Given the description of an element on the screen output the (x, y) to click on. 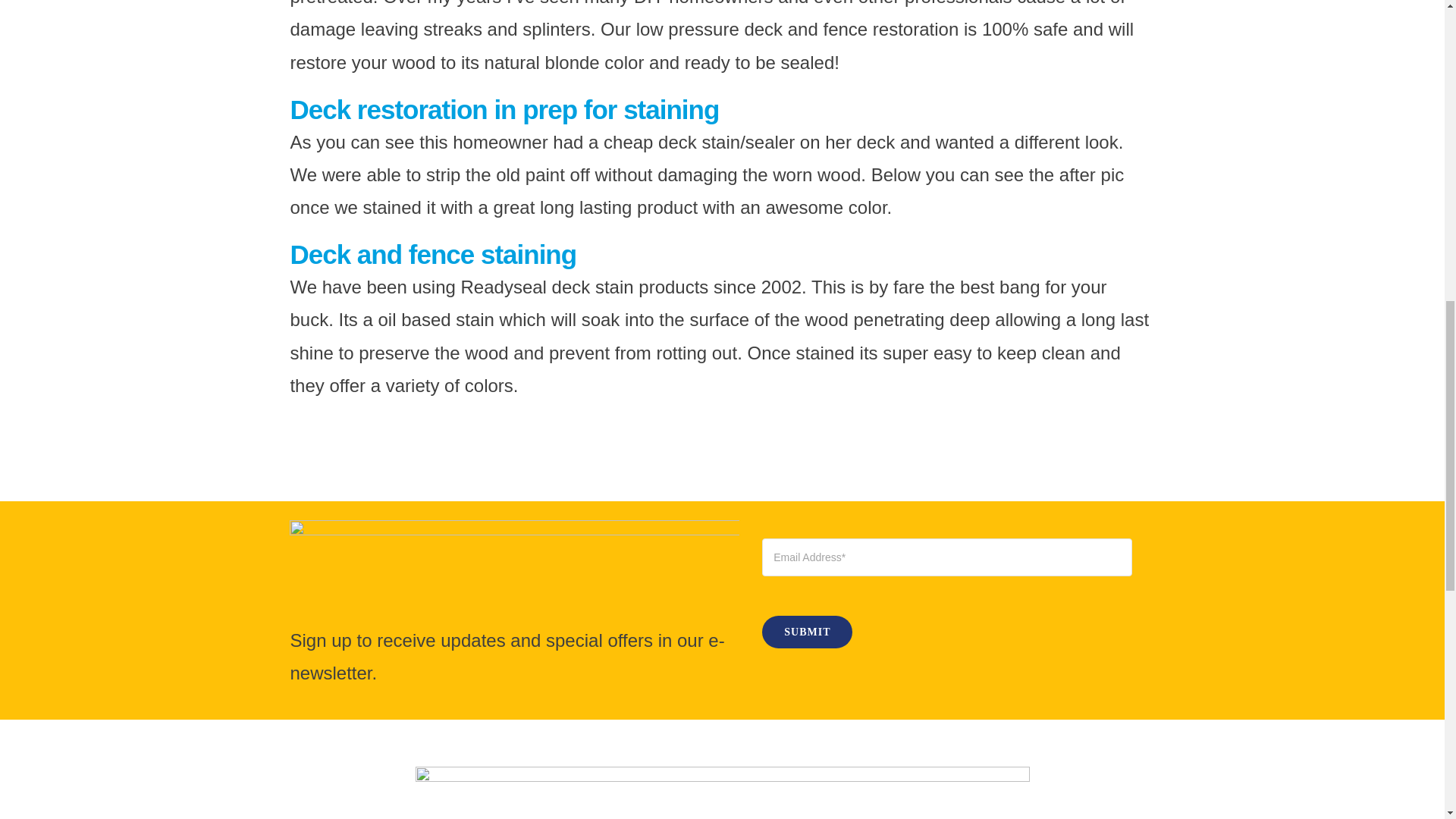
Guarantee (721, 792)
SUBMIT (946, 593)
E-News (514, 572)
